Given the description of an element on the screen output the (x, y) to click on. 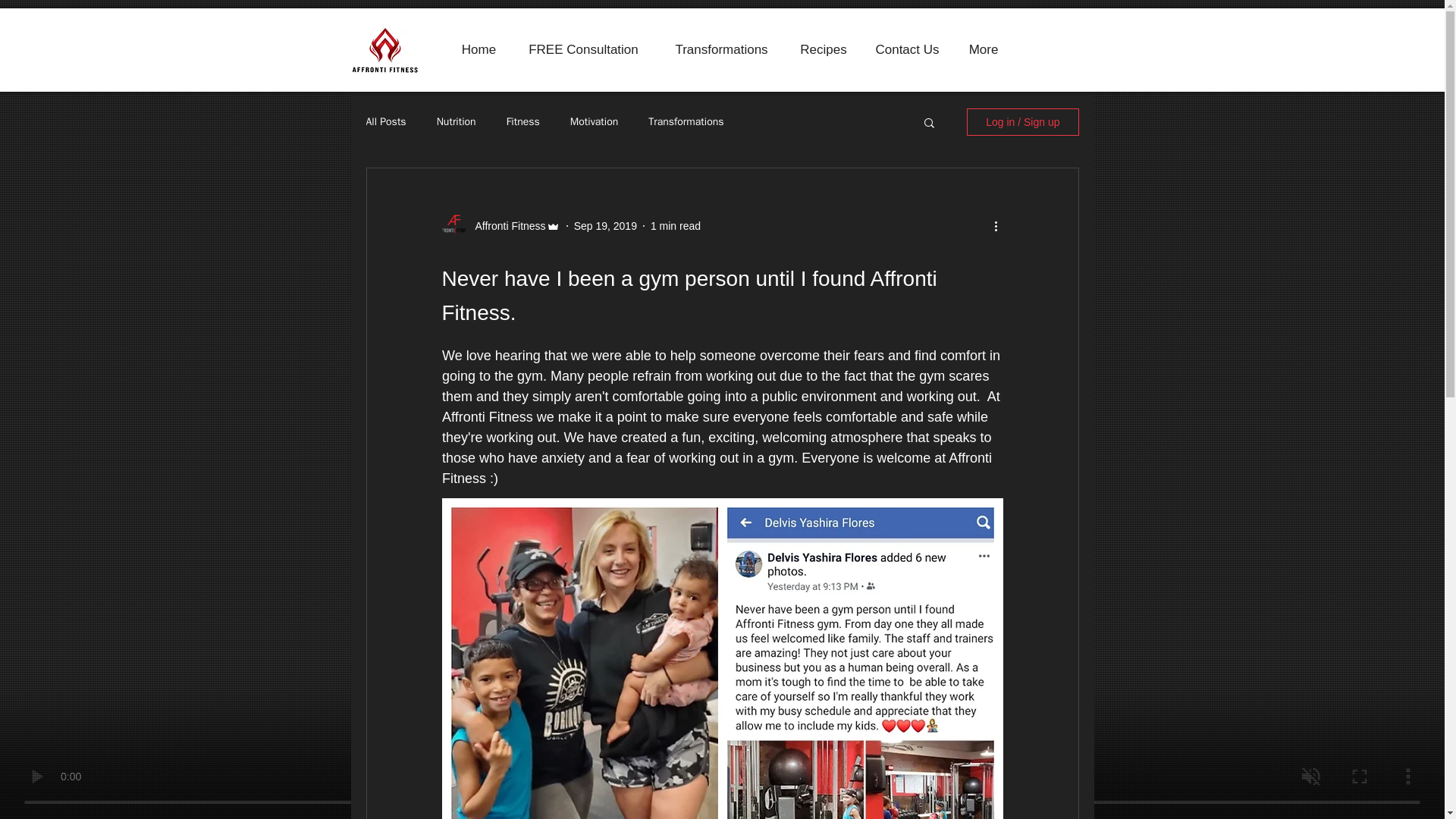
Affronti Fitness (504, 226)
All Posts (385, 121)
Transformations (721, 49)
Sep 19, 2019 (605, 225)
Nutrition (456, 121)
1 min read (675, 225)
Motivation (593, 121)
FREE Consultation (583, 49)
Contact Us (906, 49)
Home (478, 49)
